Given the description of an element on the screen output the (x, y) to click on. 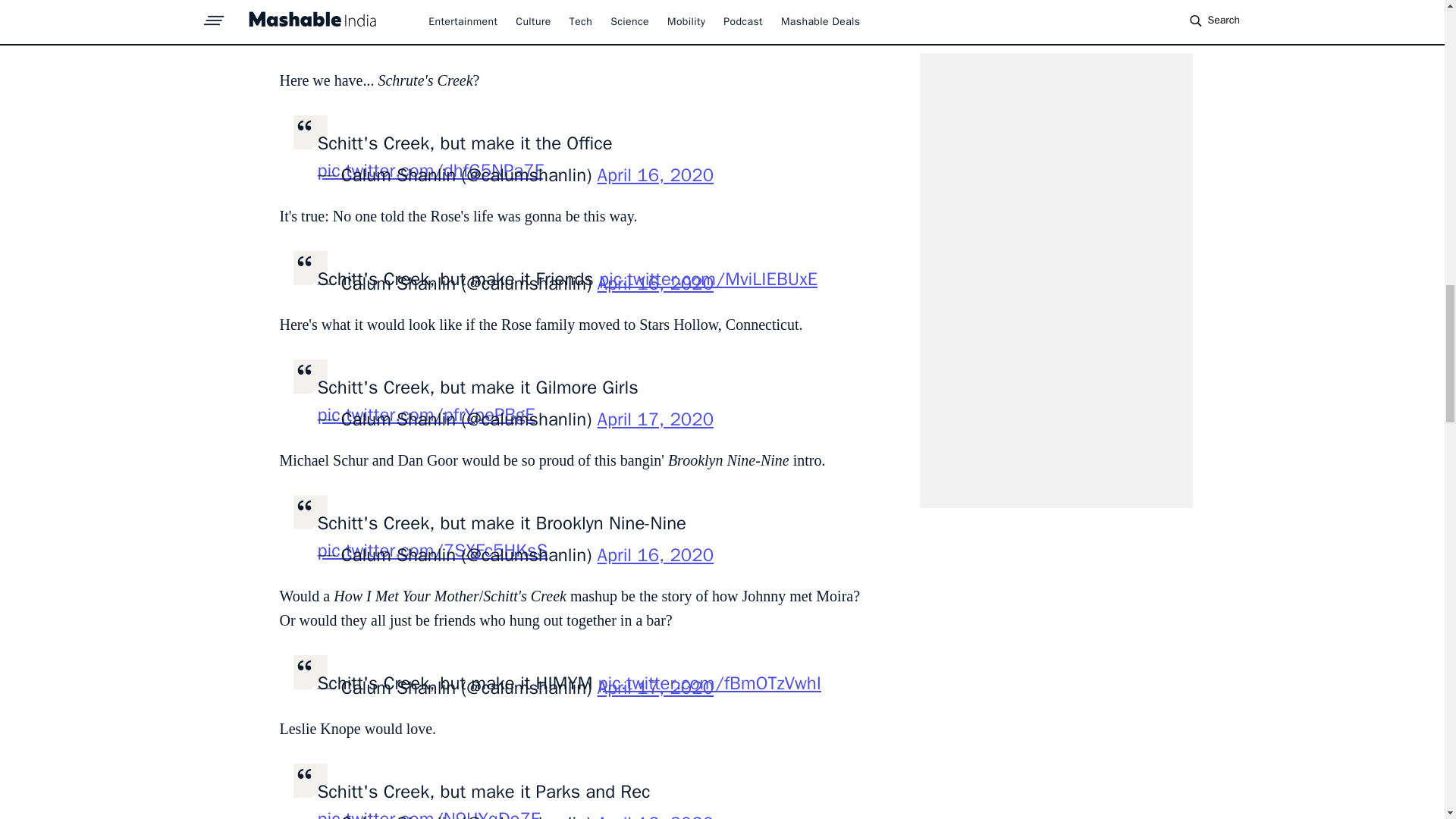
April 16, 2020 (654, 815)
April 17, 2020 (654, 687)
April 16, 2020 (654, 282)
April 17, 2020 (654, 418)
April 16, 2020 (654, 174)
April 16, 2020 (654, 554)
